Given the description of an element on the screen output the (x, y) to click on. 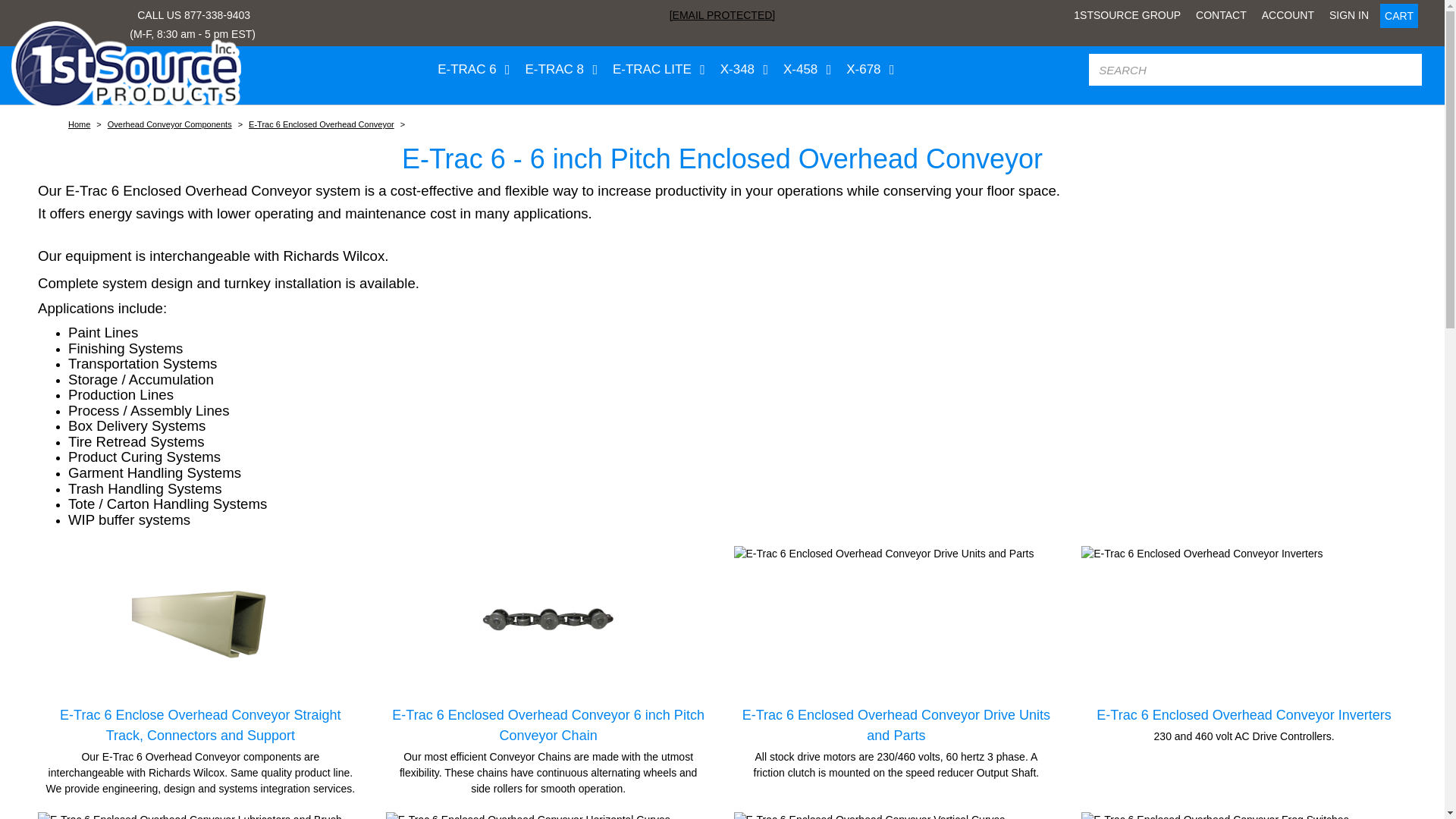
SIGN IN (1348, 15)
ACCOUNT (1287, 15)
1STSOURCE GROUP (1127, 15)
E-TRAC 6 (470, 69)
CONTACT (1221, 15)
E-TRAC 8 (557, 69)
CART (1399, 15)
CALL US 877-338-9403 (193, 15)
